Given the description of an element on the screen output the (x, y) to click on. 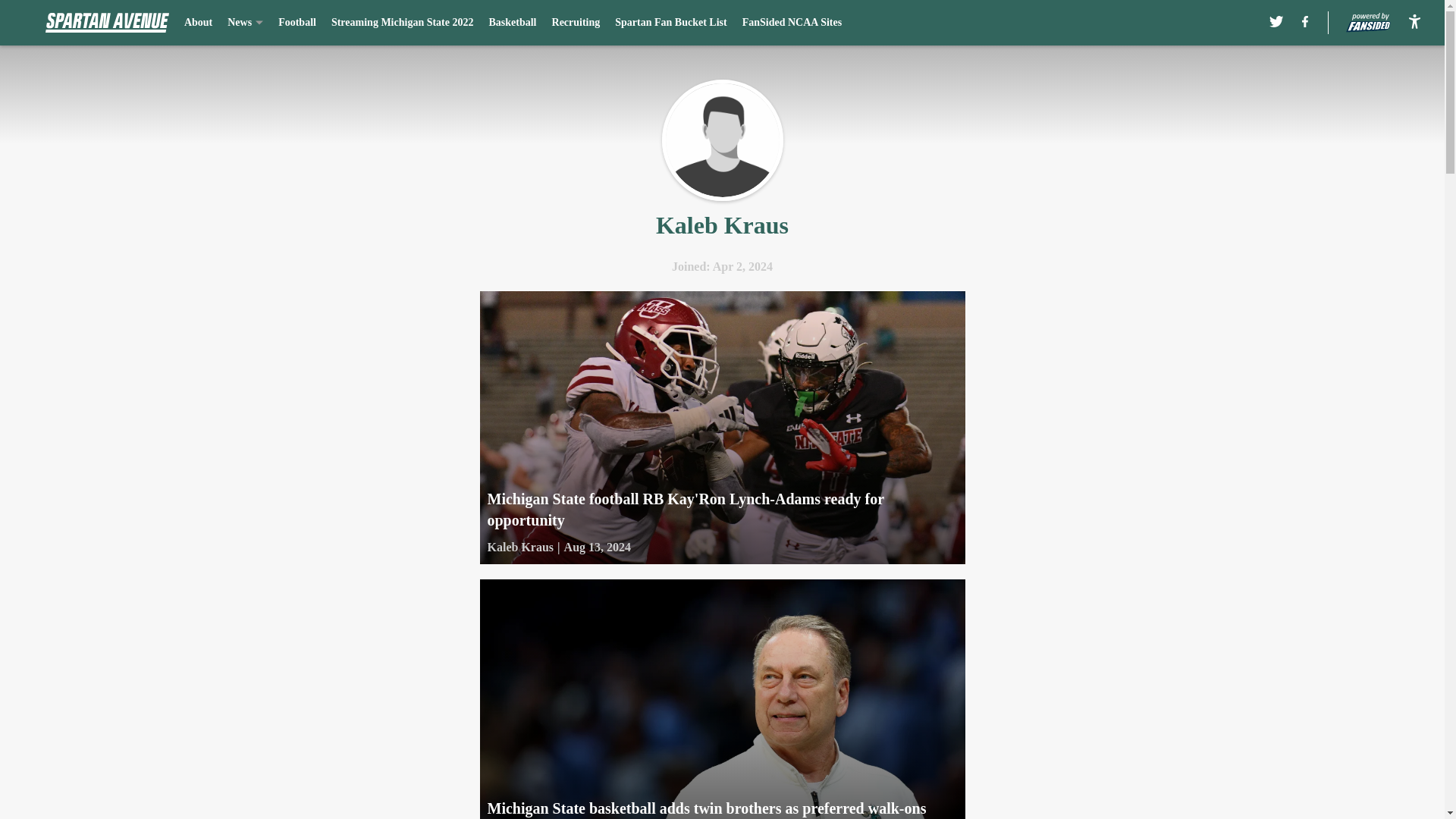
FanSided NCAA Sites (791, 22)
Kaleb Kraus (721, 140)
Kaleb Kraus (519, 547)
Spartan Fan Bucket List (670, 22)
About (198, 22)
Recruiting (575, 22)
Streaming Michigan State 2022 (402, 22)
Football (296, 22)
